Given the description of an element on the screen output the (x, y) to click on. 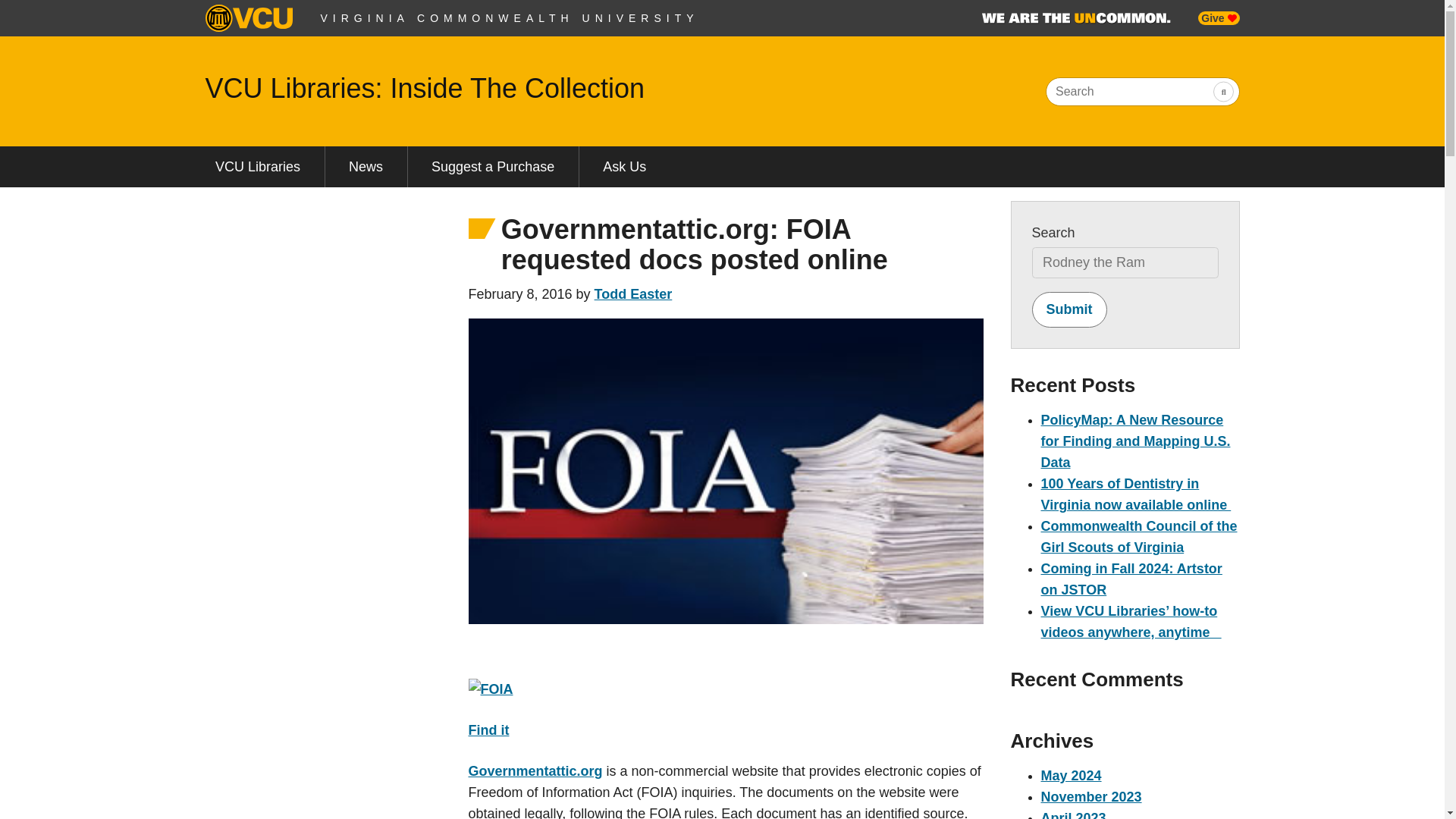
Suggest a Purchase (492, 166)
VCU Libraries (256, 166)
Give  (1218, 18)
VCU Libraries: Inside The Collection (425, 88)
100 Years of Dentistry in Virginia now available online  (1135, 493)
Coming in Fall 2024: Artstor on JSTOR (1131, 579)
Governmentattic.org (535, 770)
Todd Easter (633, 294)
Ask Us (624, 166)
News (365, 166)
Commonwealth Council of the Girl Scouts of Virginia (1138, 536)
PolicyMap: A New Resource for Finding and Mapping U.S. Data (1135, 441)
We are the UNCOMMON. (1075, 17)
Find it (488, 729)
VIRGINIA COMMONWEALTH UNIVERSITY (509, 18)
